Given the description of an element on the screen output the (x, y) to click on. 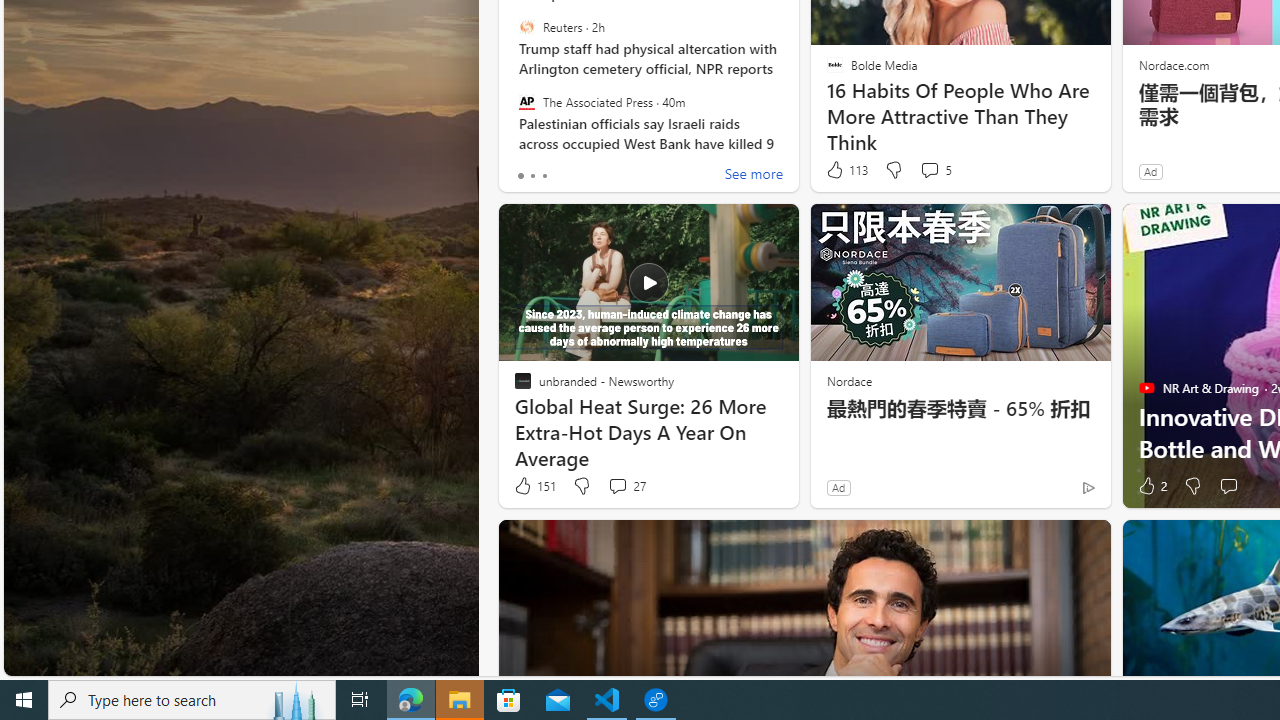
View comments 5 Comment (929, 169)
Start the conversation (1227, 485)
2 Like (1151, 485)
See more (753, 175)
The Associated Press (526, 101)
tab-1 (532, 175)
View comments 27 Comment (617, 485)
Nordace (848, 380)
tab-0 (520, 175)
Nordace.com (1173, 64)
Reuters (526, 27)
